Given the description of an element on the screen output the (x, y) to click on. 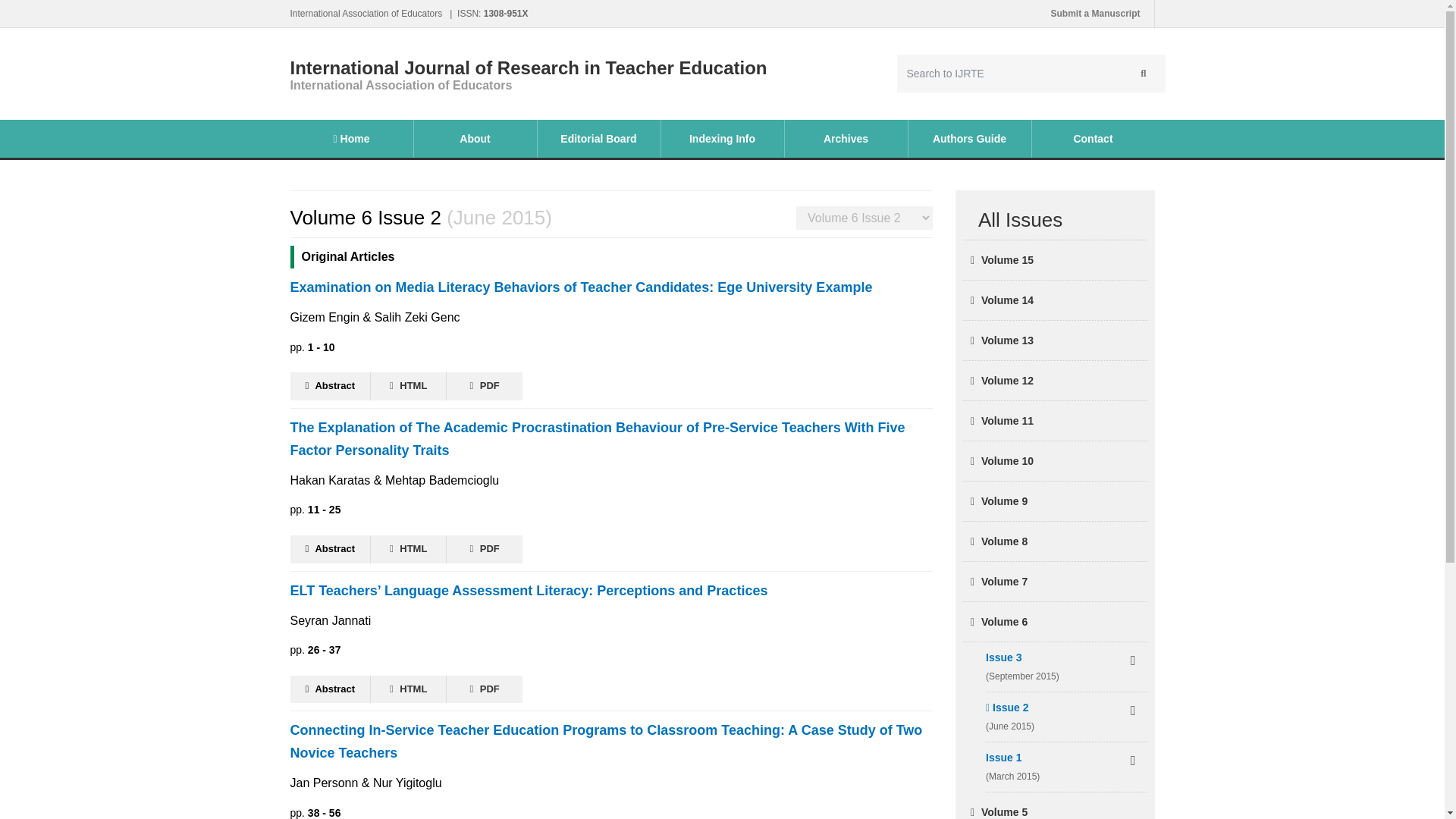
Abstract (330, 689)
Authors Guide (969, 138)
HTML (408, 386)
About (475, 138)
Indexing Info (722, 138)
PDF (484, 386)
Archives (845, 138)
Contact (1092, 138)
Abstract (330, 386)
Abstract (330, 549)
Submit a Manuscript (1094, 13)
PDF (484, 549)
